Given the description of an element on the screen output the (x, y) to click on. 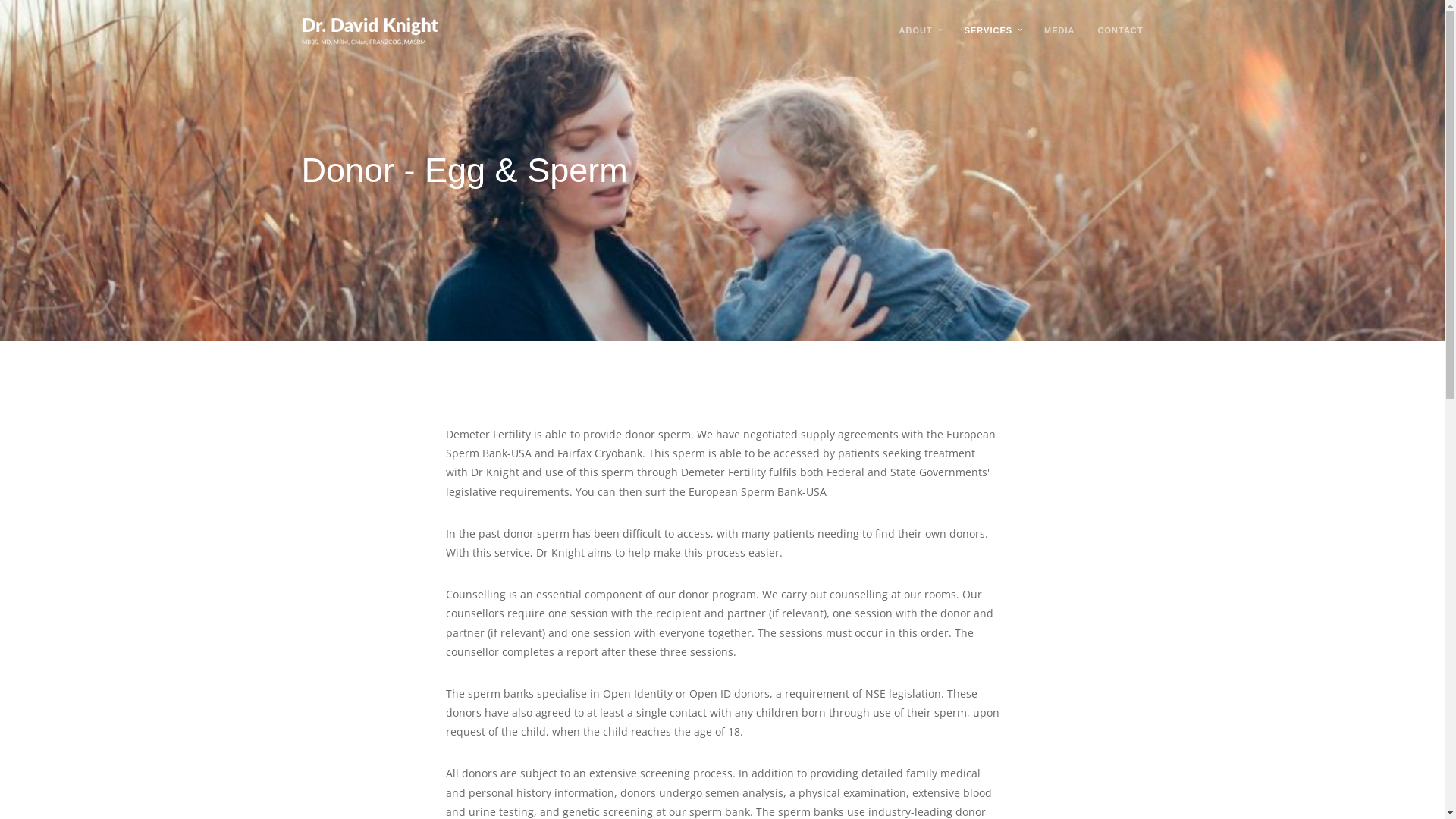
CONTACT Element type: text (1120, 30)
MEDIA Element type: text (1059, 30)
ABOUT Element type: text (915, 30)
SERVICES Element type: text (988, 30)
